Given the description of an element on the screen output the (x, y) to click on. 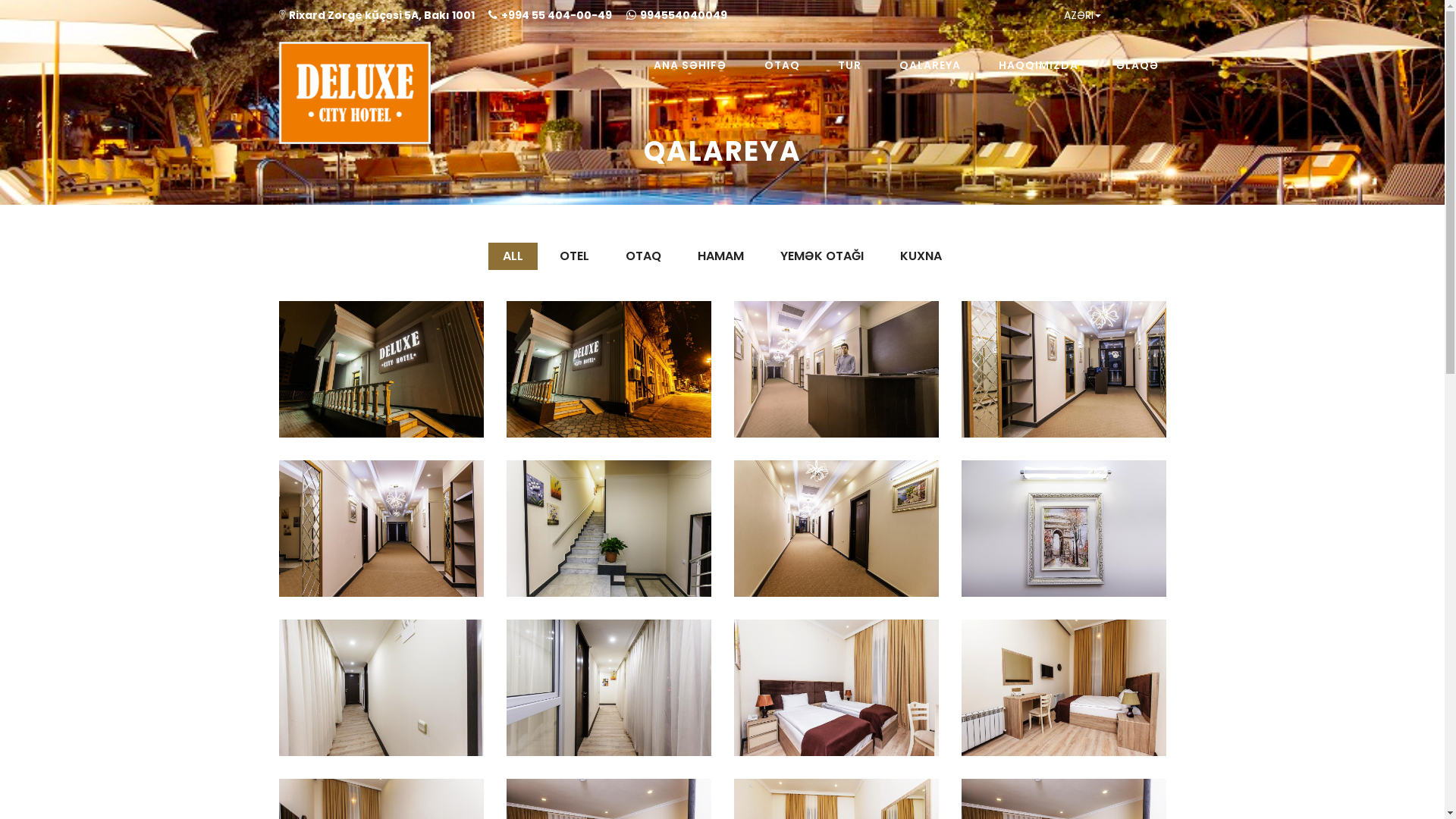
ALL Element type: text (512, 256)
Otel Element type: hover (381, 369)
Otel Element type: hover (1063, 528)
KUXNA Element type: text (920, 256)
Otel Element type: hover (608, 528)
Otel Element type: hover (836, 528)
QALAREYA Element type: text (929, 64)
Otel Element type: hover (608, 369)
OTAQ Element type: text (643, 256)
Otel Element type: hover (381, 528)
Otel Element type: hover (1063, 369)
994554040049 Element type: text (676, 14)
HAMAM Element type: text (720, 256)
Otaq Element type: hover (1063, 687)
Otaq Element type: hover (836, 687)
Otel Element type: hover (608, 687)
+994 55 404-00-49 Element type: text (549, 14)
HAQQIMIZDA Element type: text (1037, 64)
Deluxecityhotel Element type: hover (347, 50)
Otel Element type: hover (836, 369)
OTAQ Element type: text (782, 64)
TUR Element type: text (848, 64)
Otel Element type: hover (381, 687)
OTEL Element type: text (574, 256)
